Given the description of an element on the screen output the (x, y) to click on. 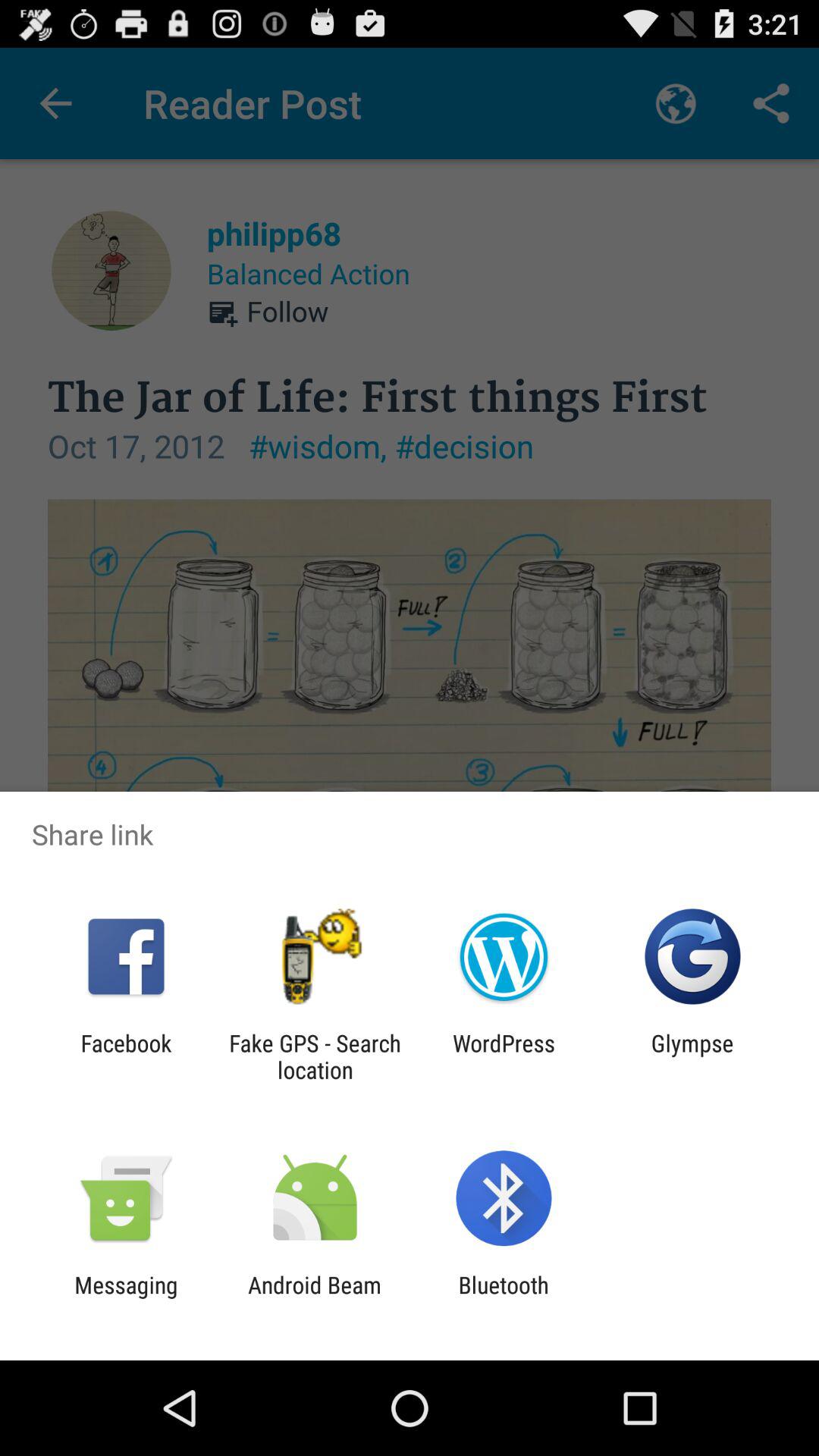
click the app to the right of the facebook app (314, 1056)
